Given the description of an element on the screen output the (x, y) to click on. 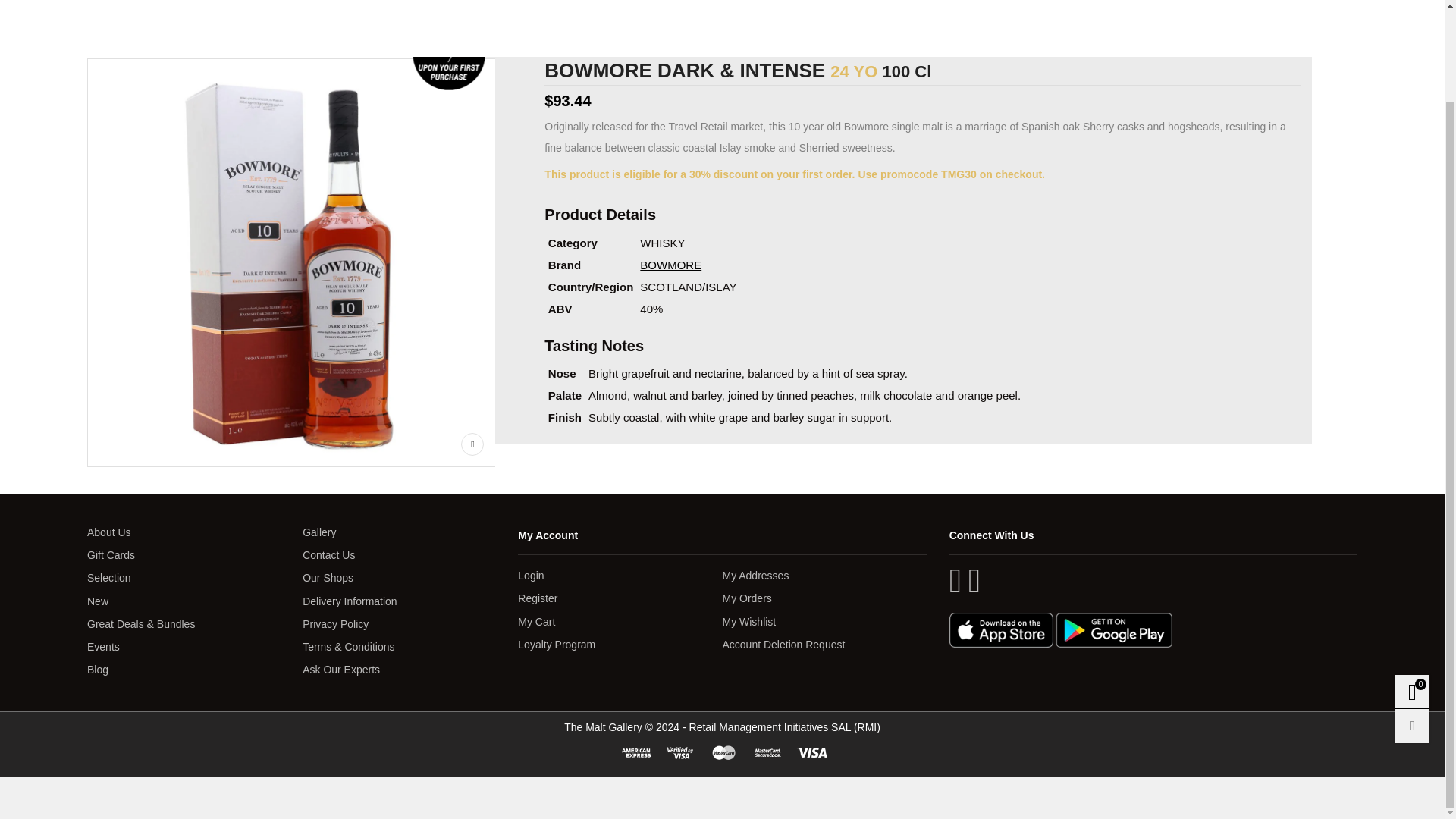
Sign In (1209, 210)
The Malt Gallery (164, 26)
